Given the description of an element on the screen output the (x, y) to click on. 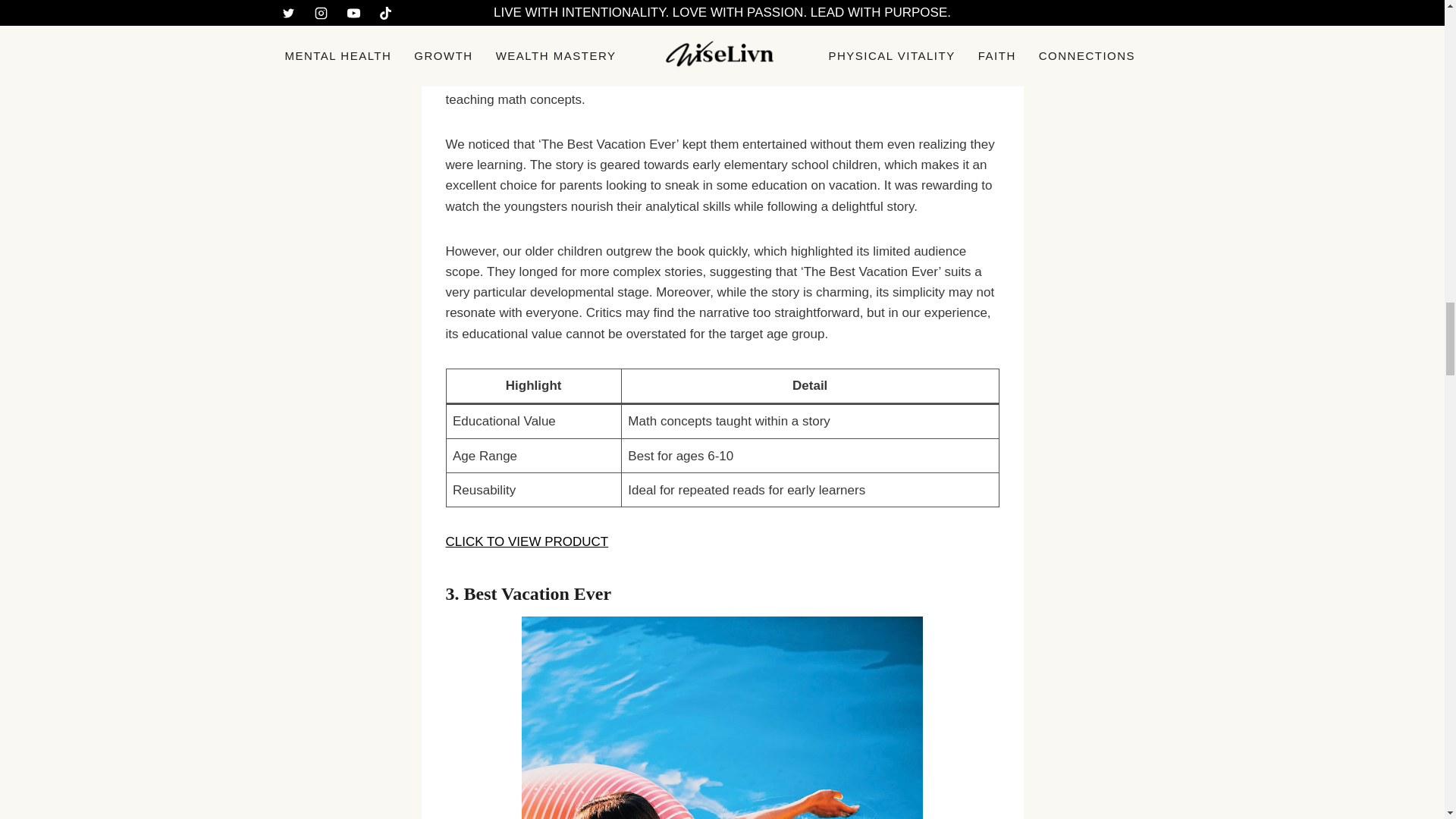
CLICK TO VIEW PRODUCT (526, 541)
Best Vacation Ever (537, 593)
